Given the description of an element on the screen output the (x, y) to click on. 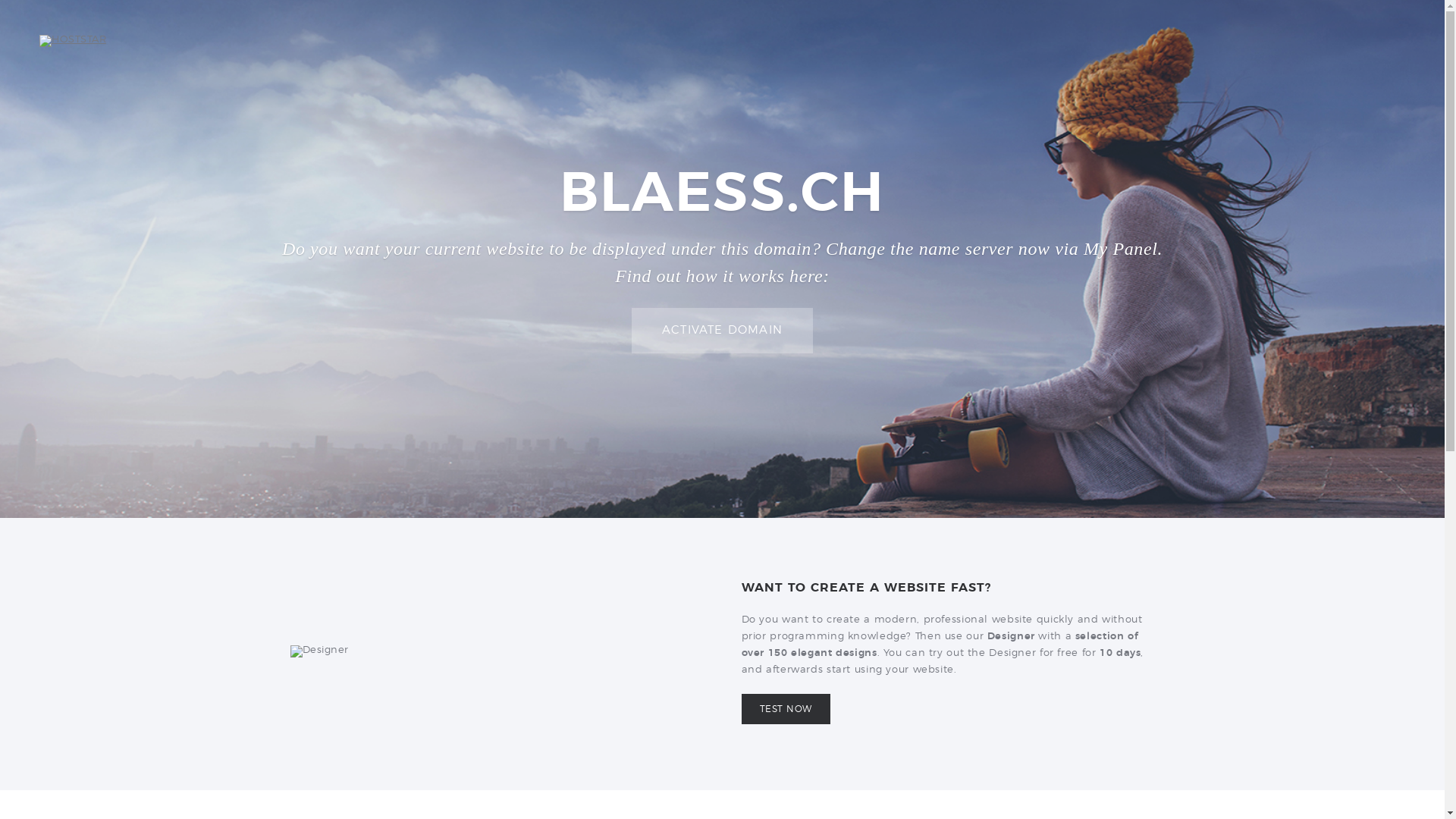
TEST NOW Element type: text (785, 708)
ACTIVATE DOMAIN Element type: text (721, 330)
ACTIVATE DOMAIN Element type: text (721, 330)
